Given the description of an element on the screen output the (x, y) to click on. 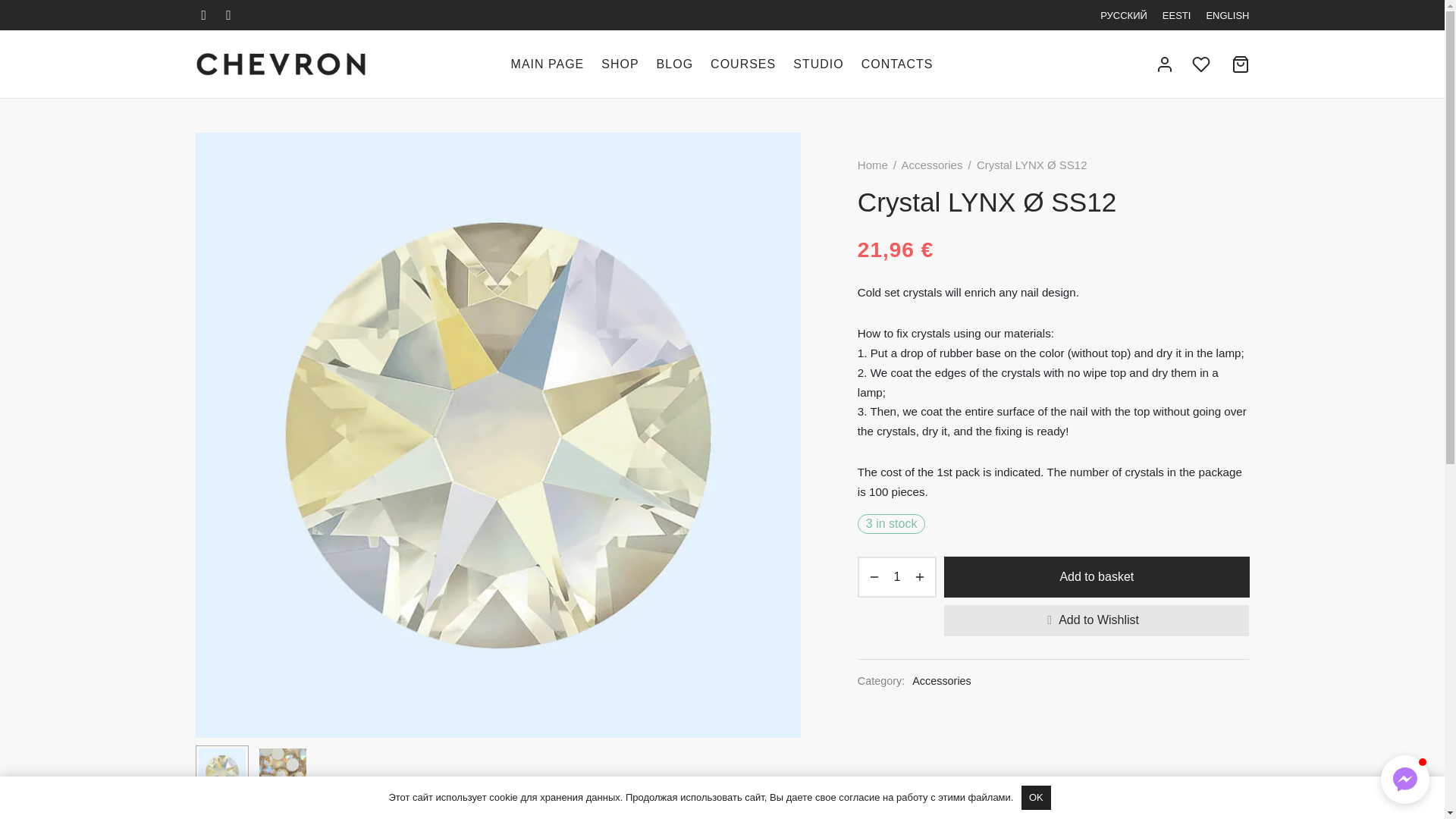
EESTI (1176, 15)
COURSES (743, 64)
Accessories (941, 680)
SHOP (620, 64)
ENGLISH (1227, 15)
Accessories (931, 164)
BLOG (674, 64)
Home (872, 164)
CONTACTS (897, 64)
1 (896, 577)
MAIN PAGE (548, 64)
STUDIO (818, 64)
Add to Wishlist (1096, 620)
